Given the description of an element on the screen output the (x, y) to click on. 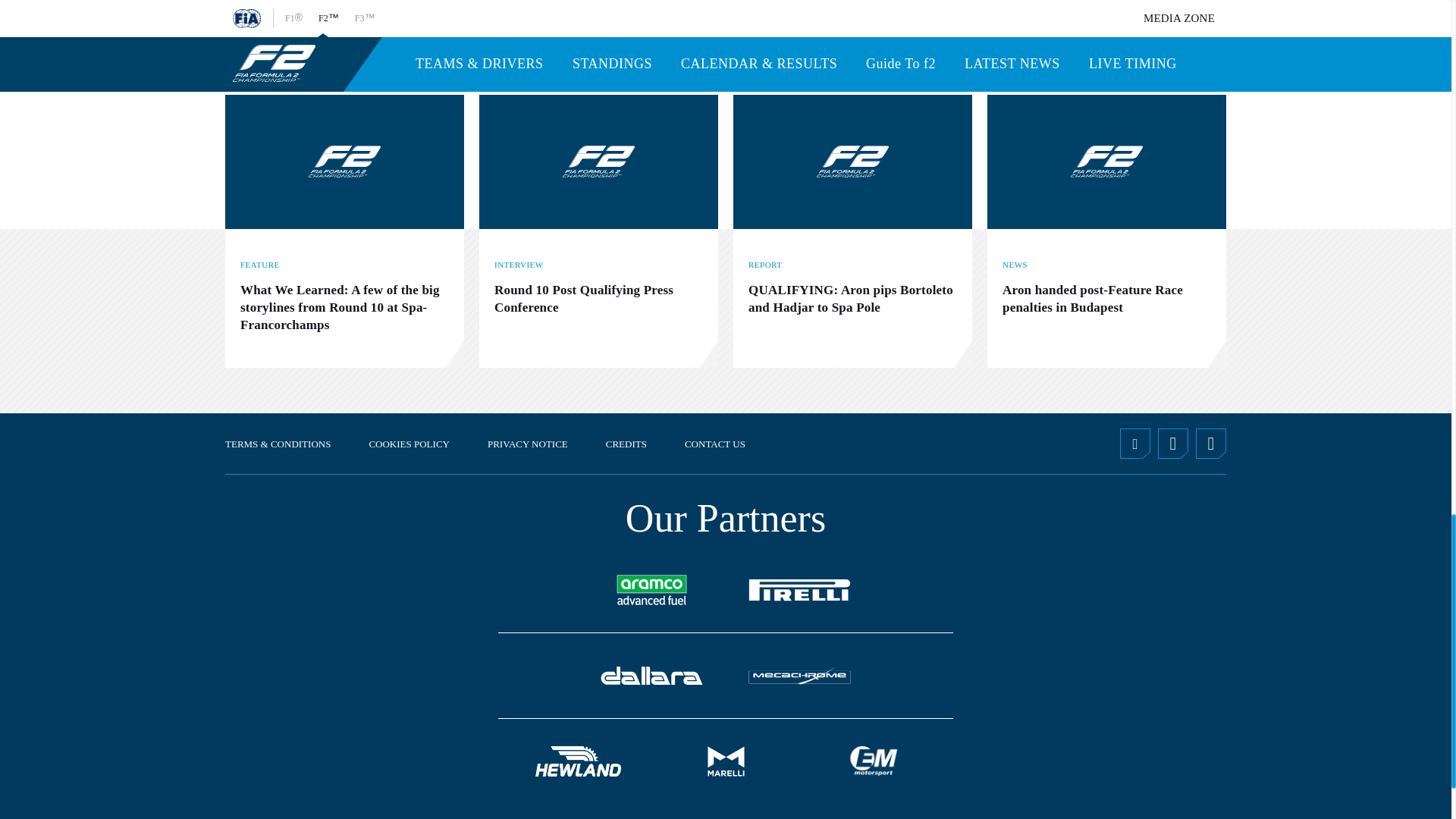
Instagram (1172, 443)
Facebook (1210, 443)
CREDITS (625, 443)
Twitter (1134, 443)
PRIVACY NOTICE (527, 443)
Latest News (1151, 52)
CONTACT US (714, 443)
COOKIES POLICY (408, 443)
